Given the description of an element on the screen output the (x, y) to click on. 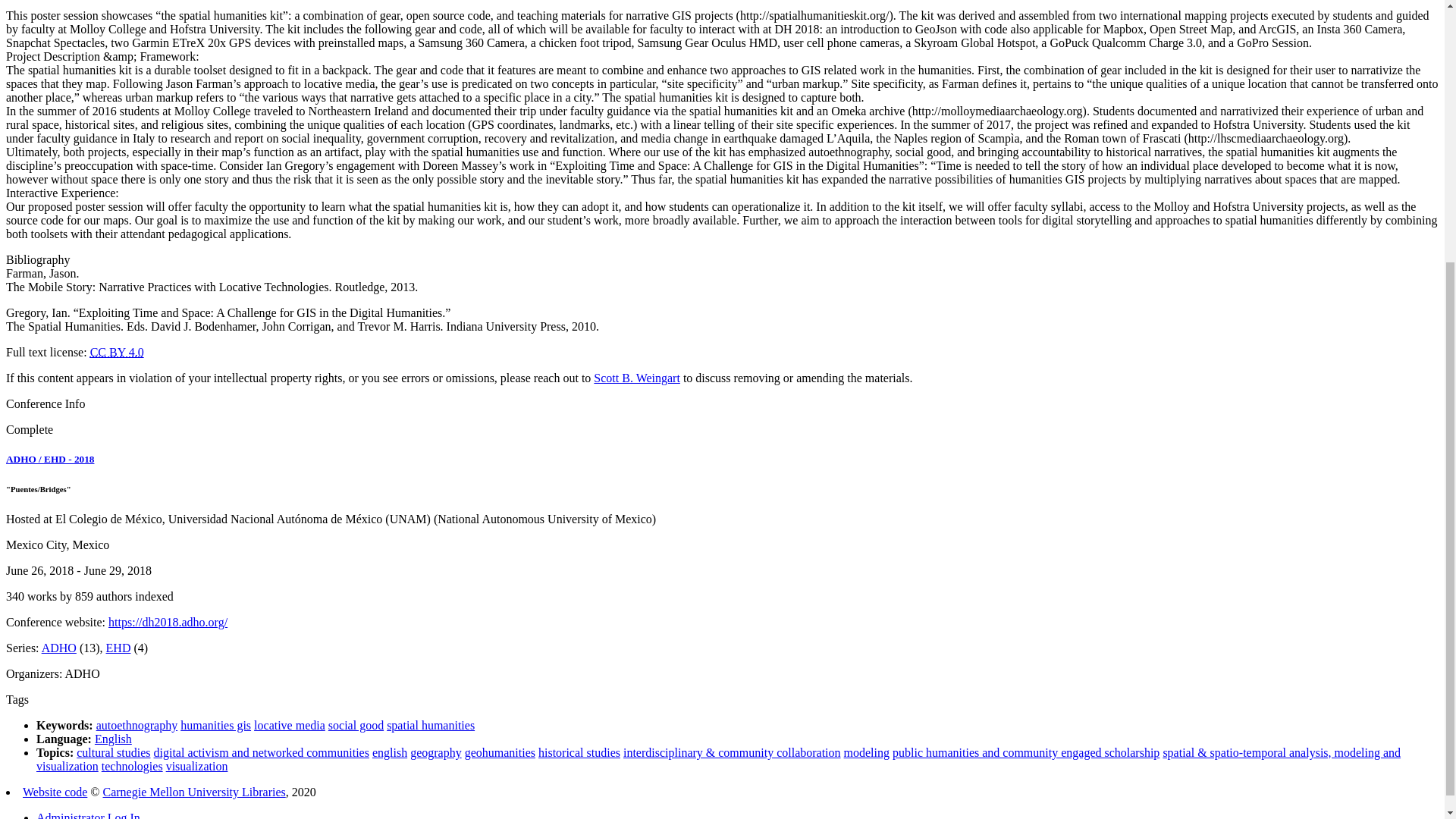
autoethnography (136, 725)
visualization (196, 766)
social good (356, 725)
Website code (55, 791)
geohumanities (499, 752)
digital activism and networked communities (261, 752)
public humanities and community engaged scholarship (1025, 752)
humanities gis (215, 725)
ADHO (59, 647)
historical studies (579, 752)
